Given the description of an element on the screen output the (x, y) to click on. 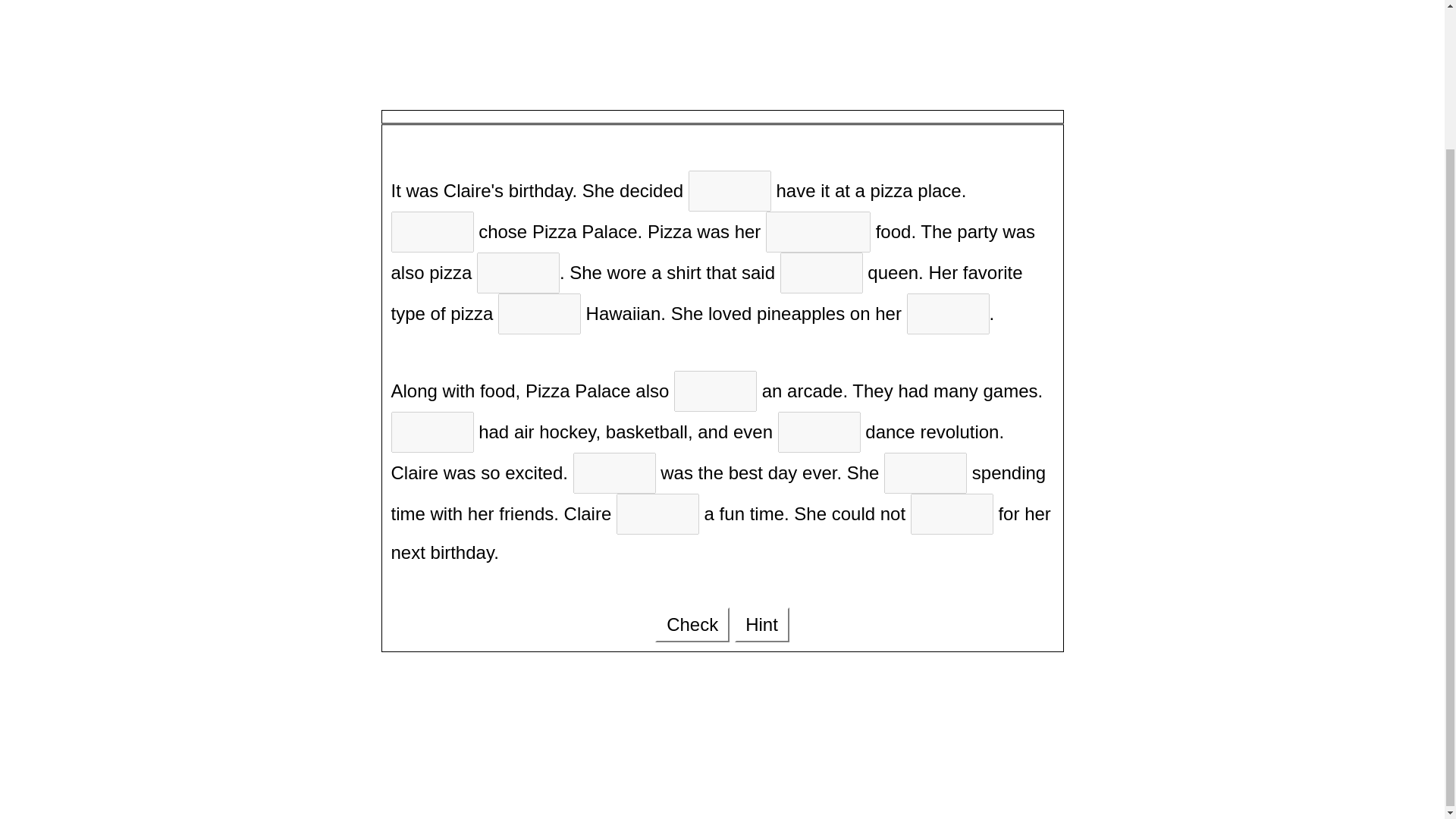
 Check  (692, 624)
 Hint  (762, 624)
Advertisement (721, 47)
